Given the description of an element on the screen output the (x, y) to click on. 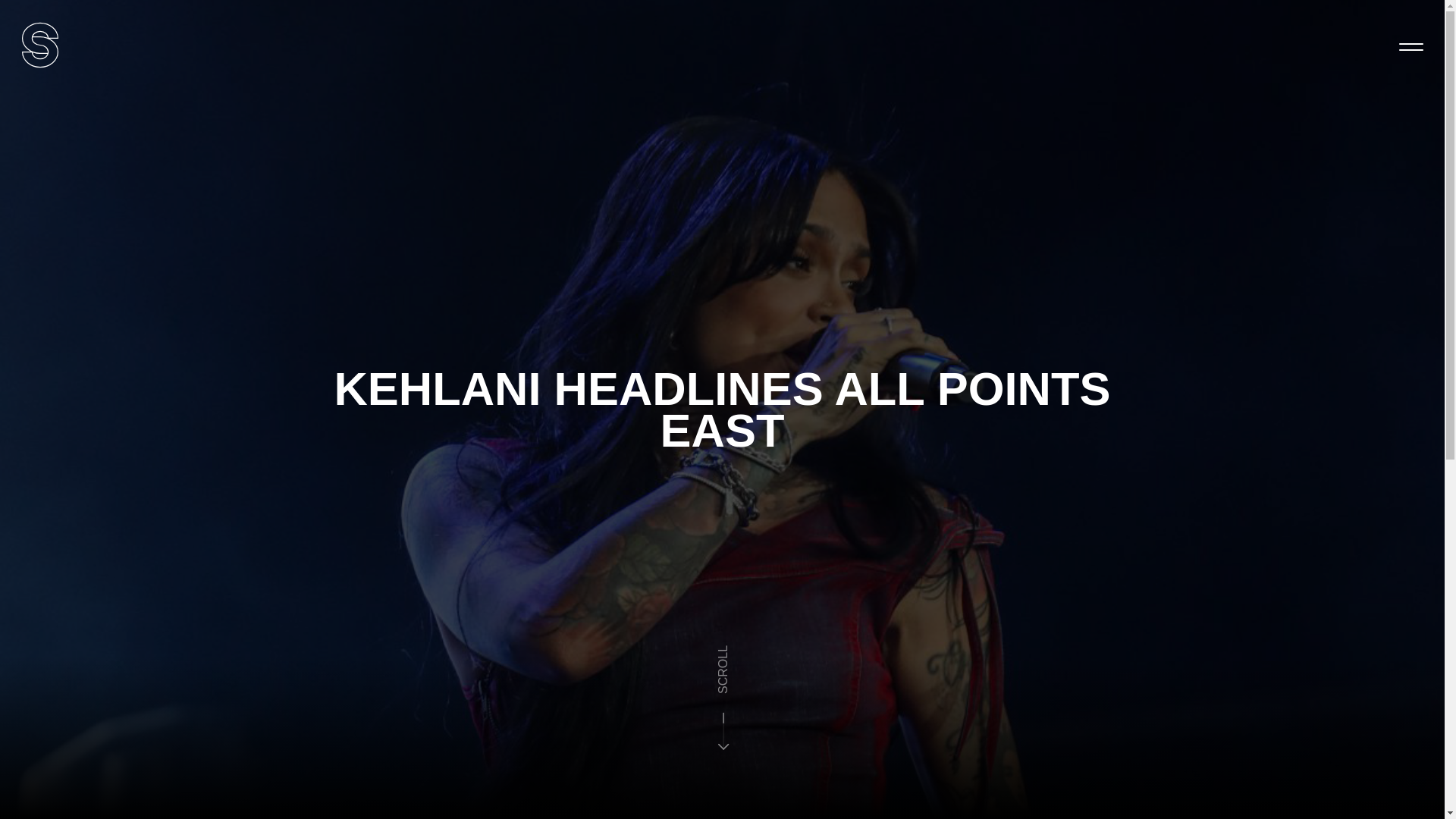
SCROLL (737, 655)
SCROLL (826, 532)
